Given the description of an element on the screen output the (x, y) to click on. 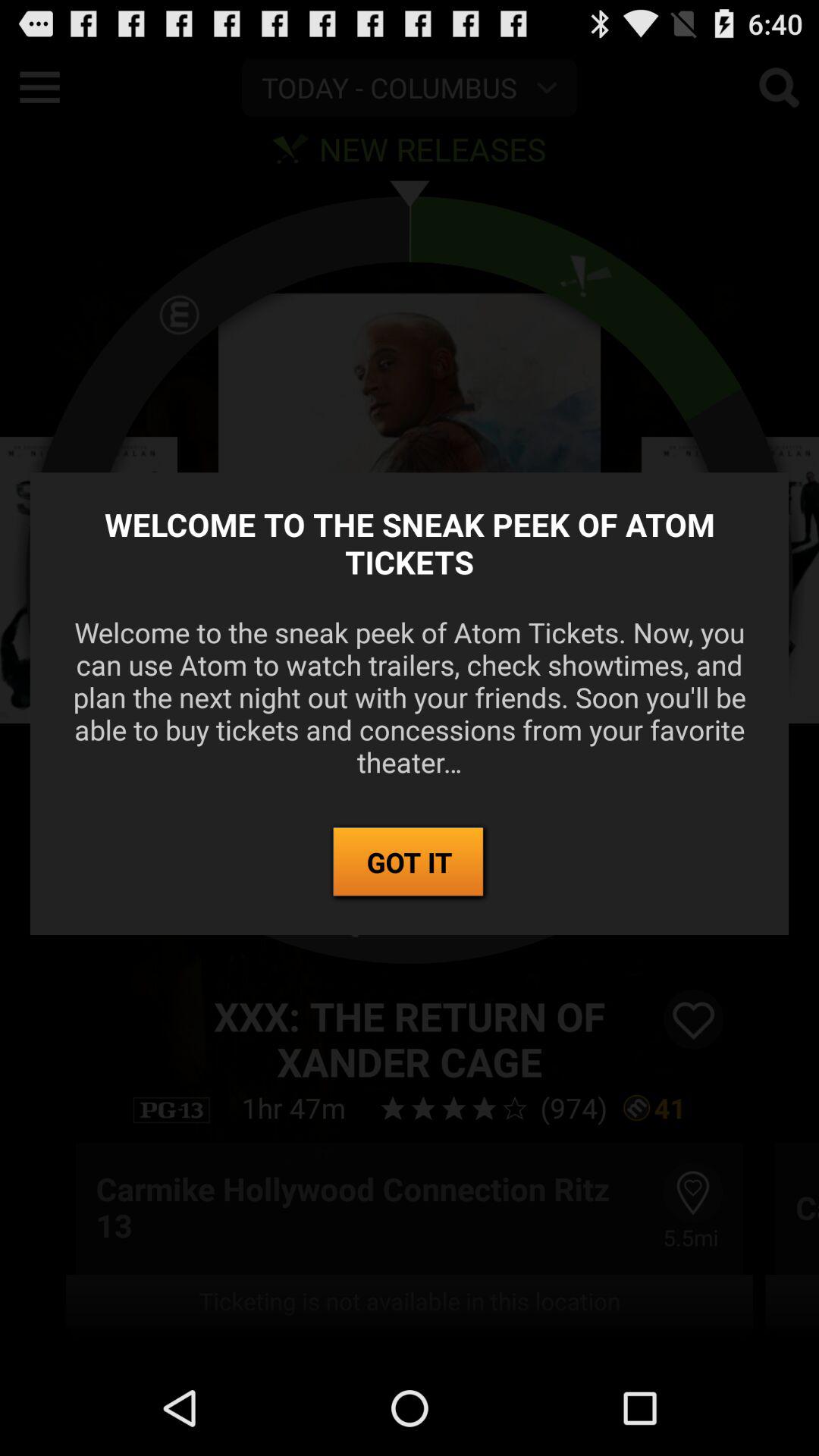
turn off item below welcome to the item (409, 862)
